Given the description of an element on the screen output the (x, y) to click on. 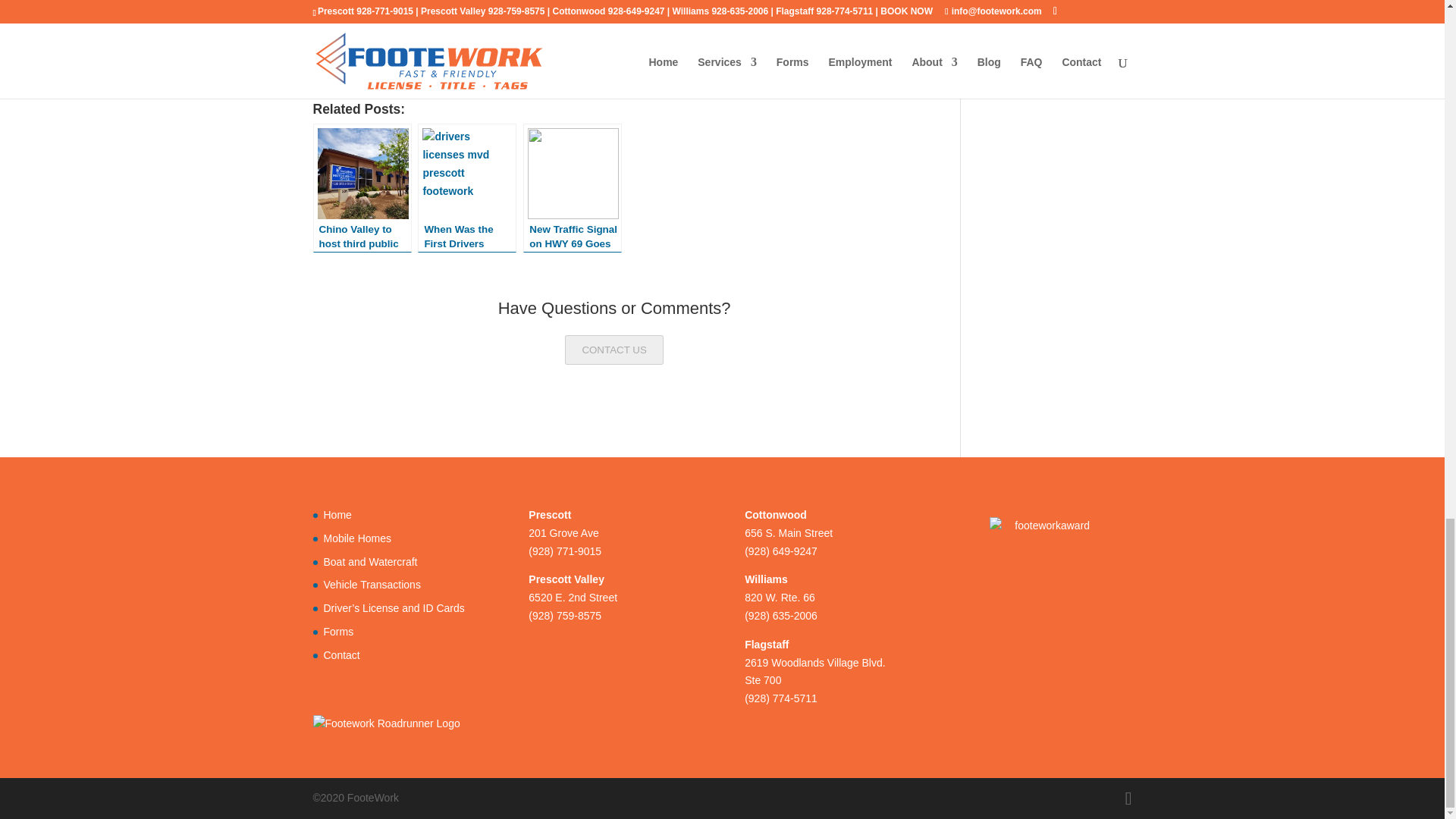
CONTACT US (613, 349)
Safe Phone Zones (698, 53)
Geico Facts and Tips (851, 24)
